Given the description of an element on the screen output the (x, y) to click on. 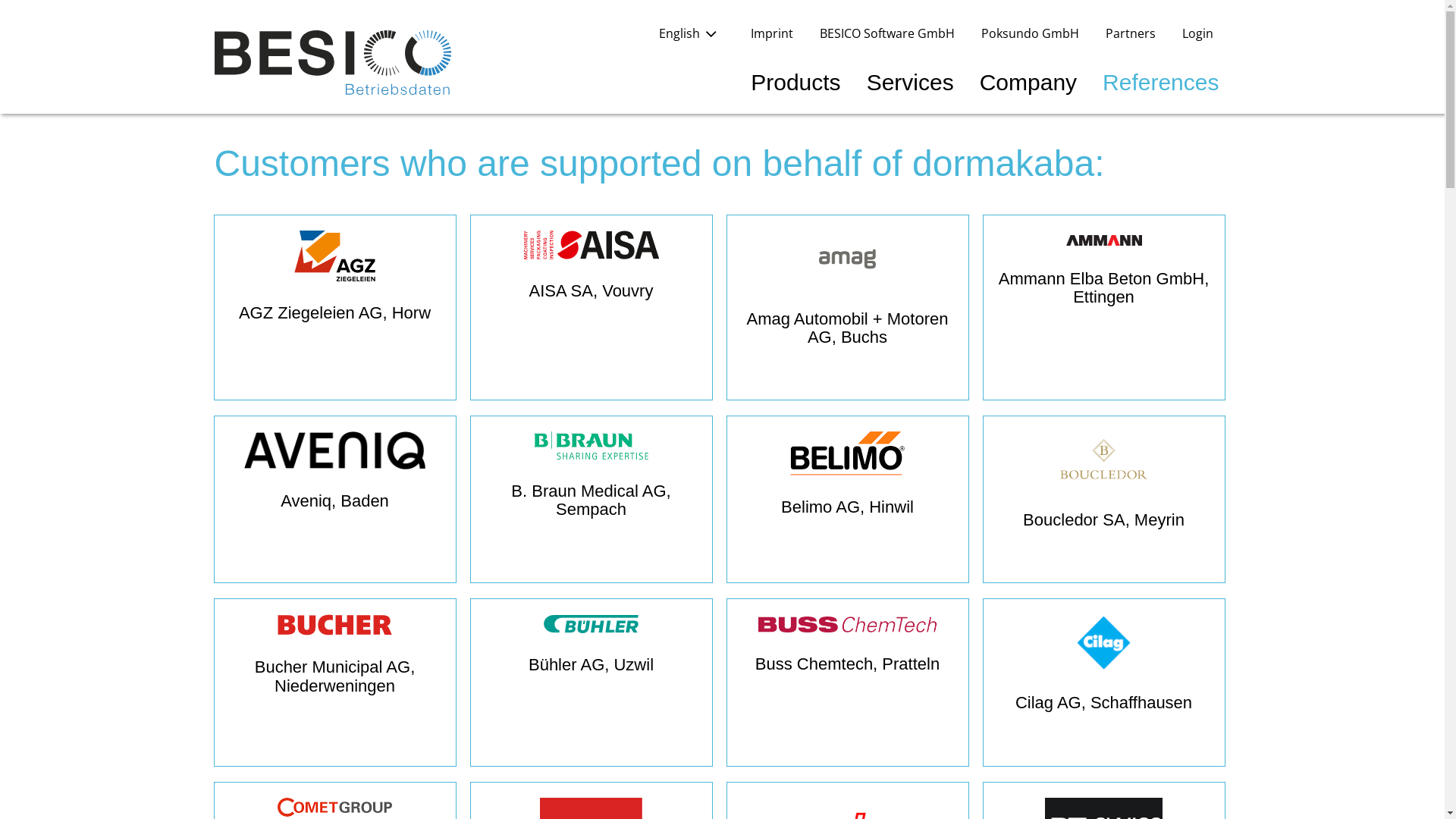
Company Element type: text (1028, 82)
Imprint Element type: text (771, 32)
English Element type: text (690, 32)
Login Element type: text (1196, 32)
BESICO Software GmbH Element type: text (886, 32)
Products Element type: text (795, 82)
References Element type: text (1160, 82)
Services Element type: text (910, 82)
Partners Element type: text (1130, 32)
Poksundo GmbH Element type: text (1030, 32)
